Given the description of an element on the screen output the (x, y) to click on. 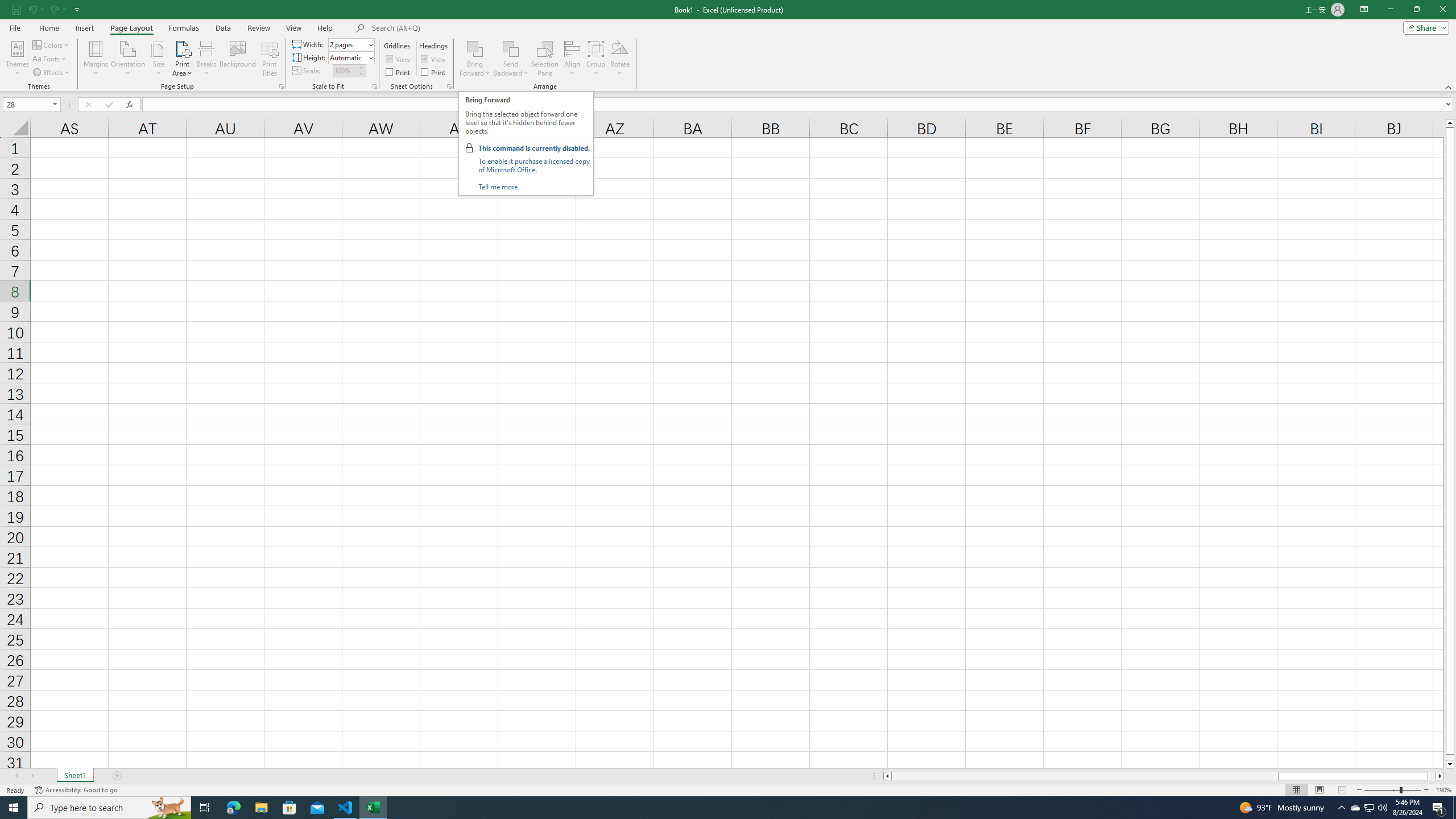
Scale (344, 70)
Width (347, 44)
Rotate (619, 58)
Page left (1084, 775)
This command is currently disabled. (534, 148)
